Given the description of an element on the screen output the (x, y) to click on. 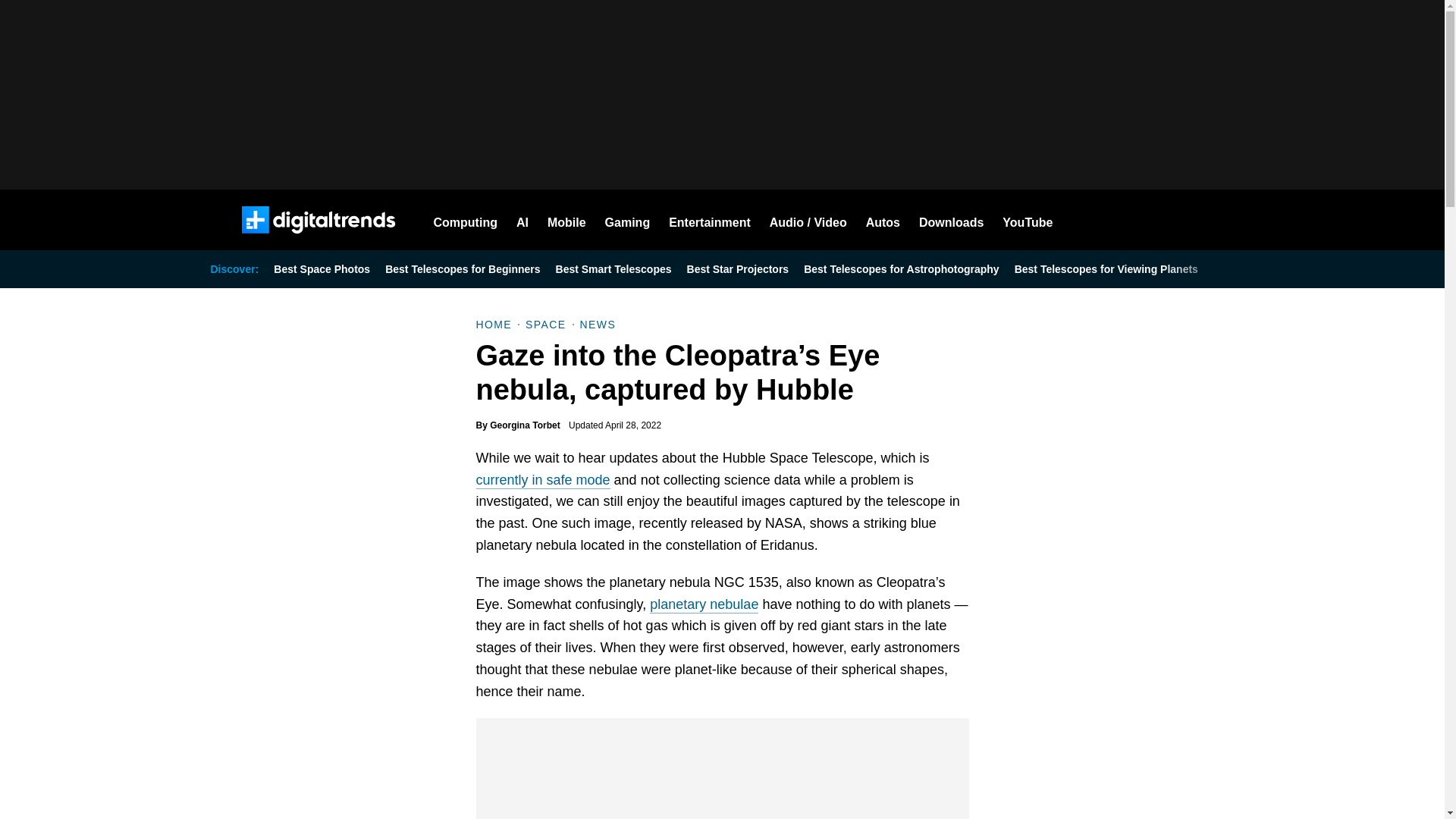
Computing (465, 219)
Entertainment (709, 219)
Downloads (951, 219)
